Given the description of an element on the screen output the (x, y) to click on. 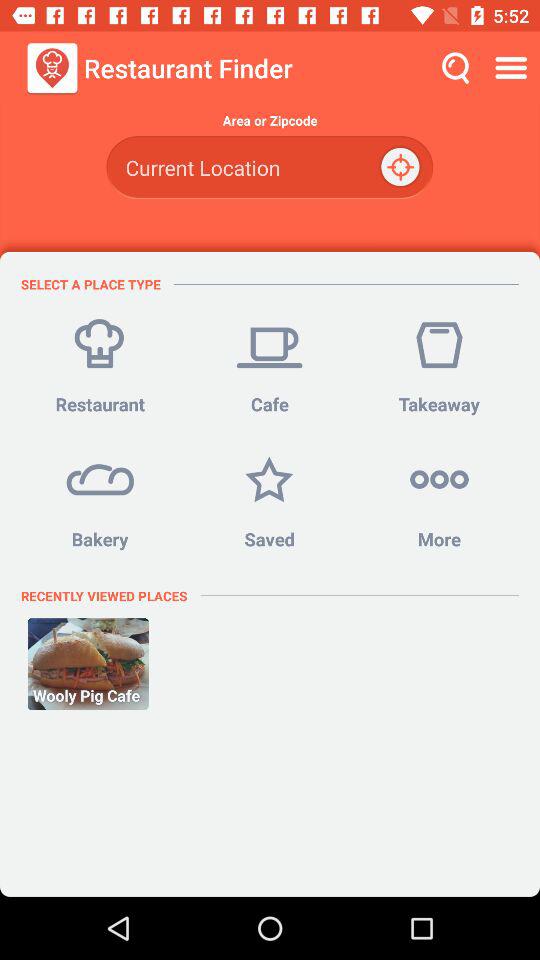
click the item below area or zipcode (401, 167)
